Given the description of an element on the screen output the (x, y) to click on. 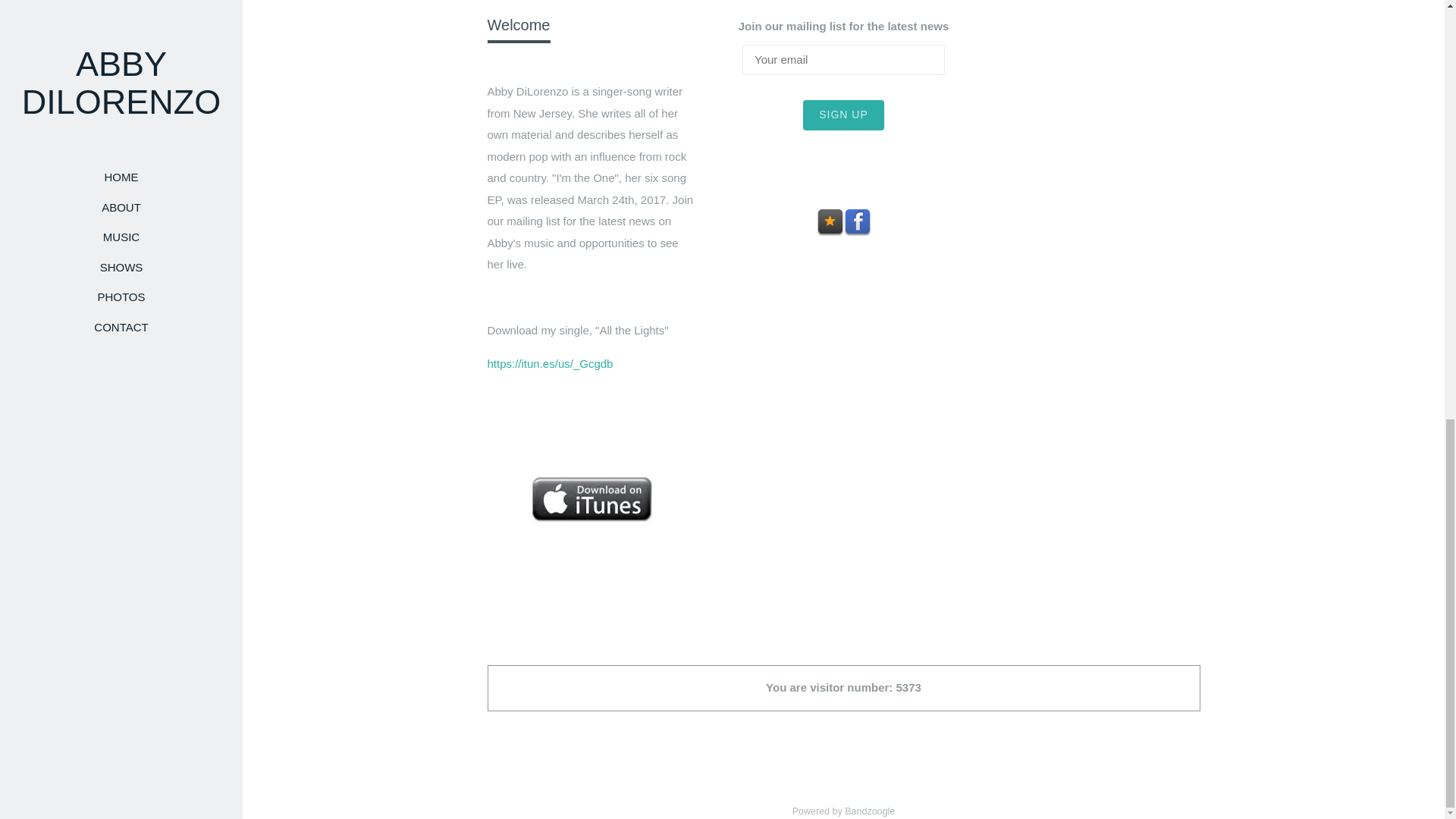
Powered by Bandzoogle (843, 810)
SIGN UP (843, 114)
Powered by Bandzoogle (843, 810)
